Given the description of an element on the screen output the (x, y) to click on. 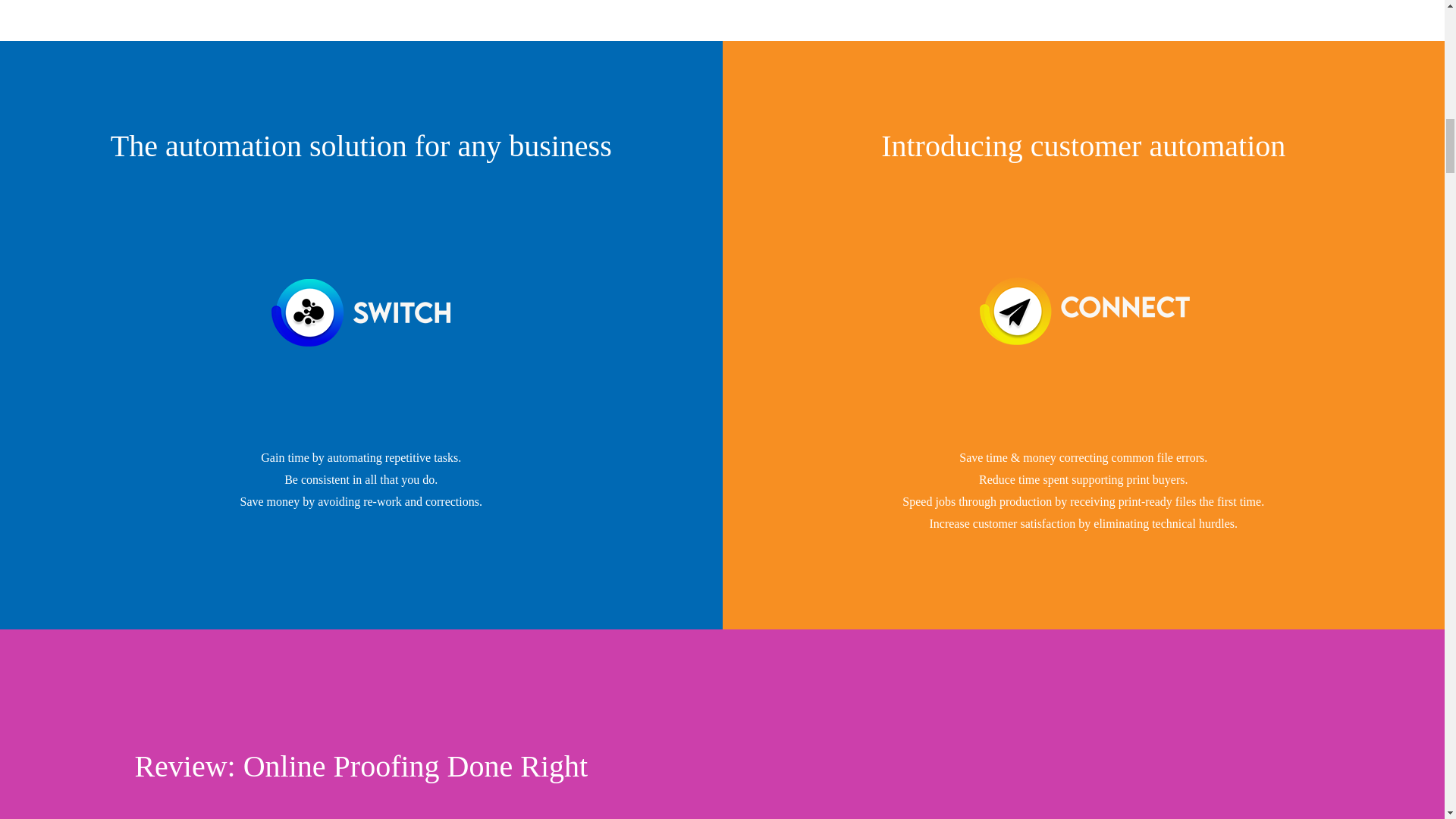
YouTube video player 1 (1029, 764)
